Given the description of an element on the screen output the (x, y) to click on. 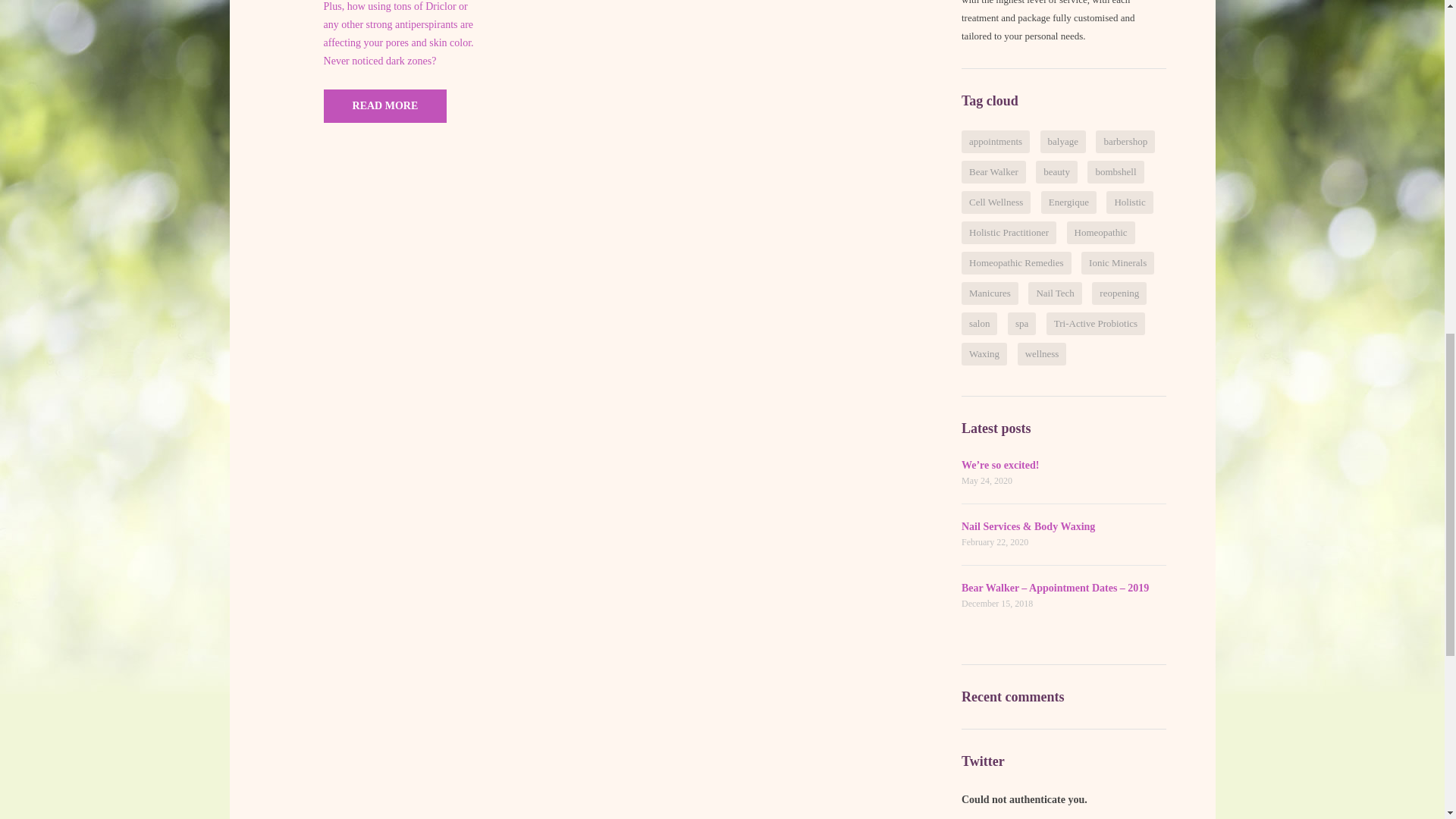
barbershop (1125, 141)
balyage (1061, 141)
Cell Wellness (995, 201)
Bear Walker (993, 171)
appointments (994, 141)
bombshell (1114, 171)
beauty (1056, 171)
